Given the description of an element on the screen output the (x, y) to click on. 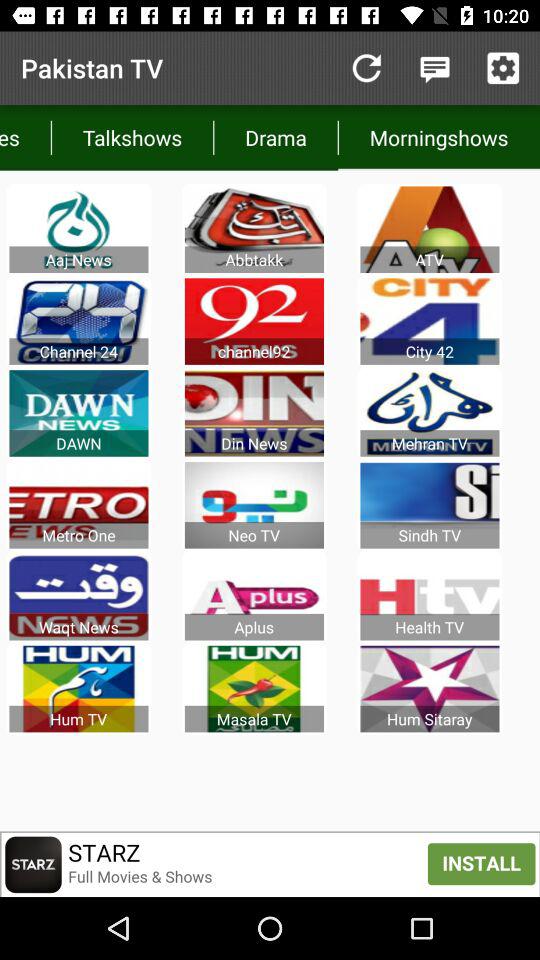
select htv picture (430, 597)
select the third image in the fourth row (430, 505)
